Given the description of an element on the screen output the (x, y) to click on. 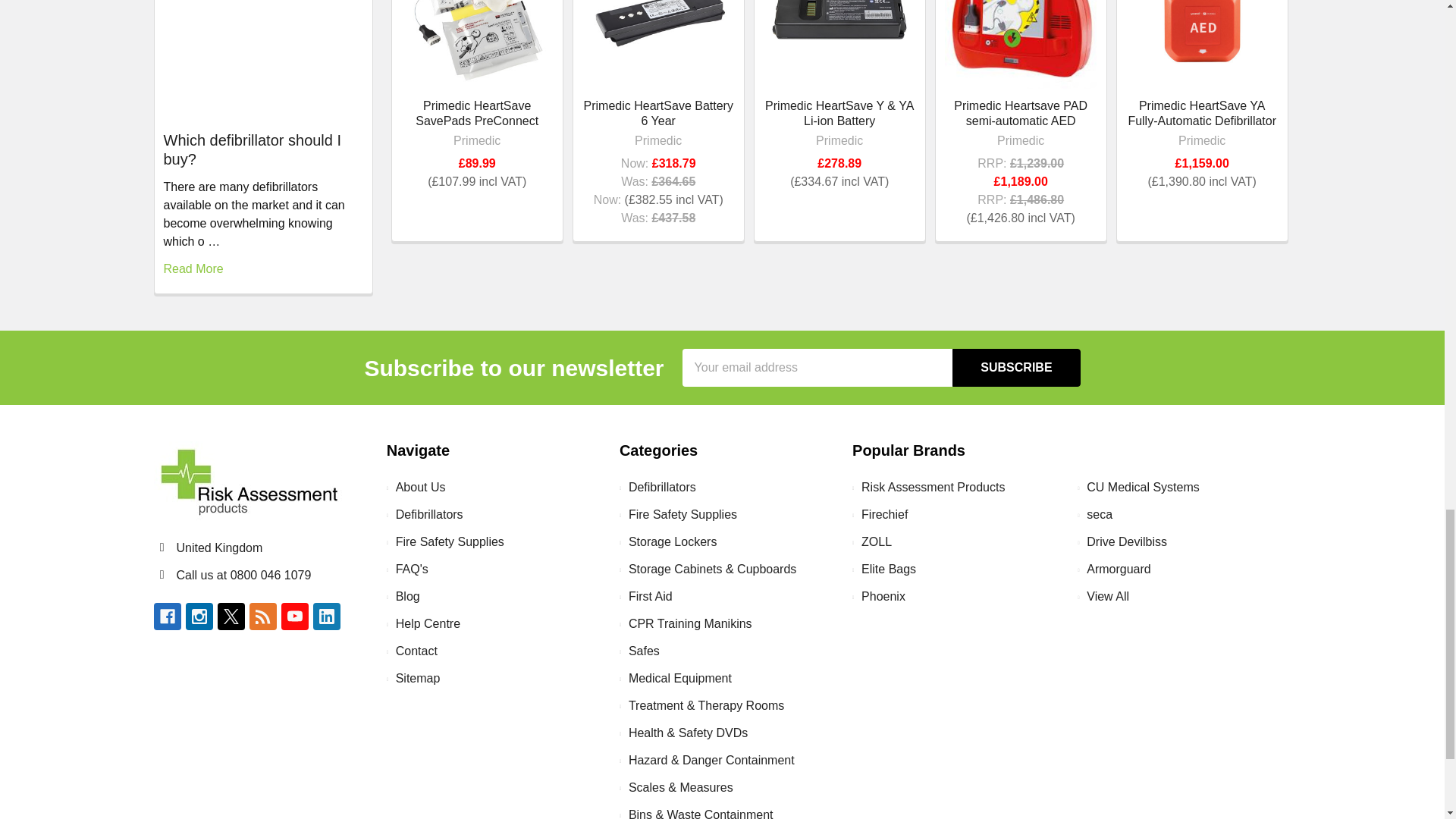
Subscribe (1016, 367)
